Given the description of an element on the screen output the (x, y) to click on. 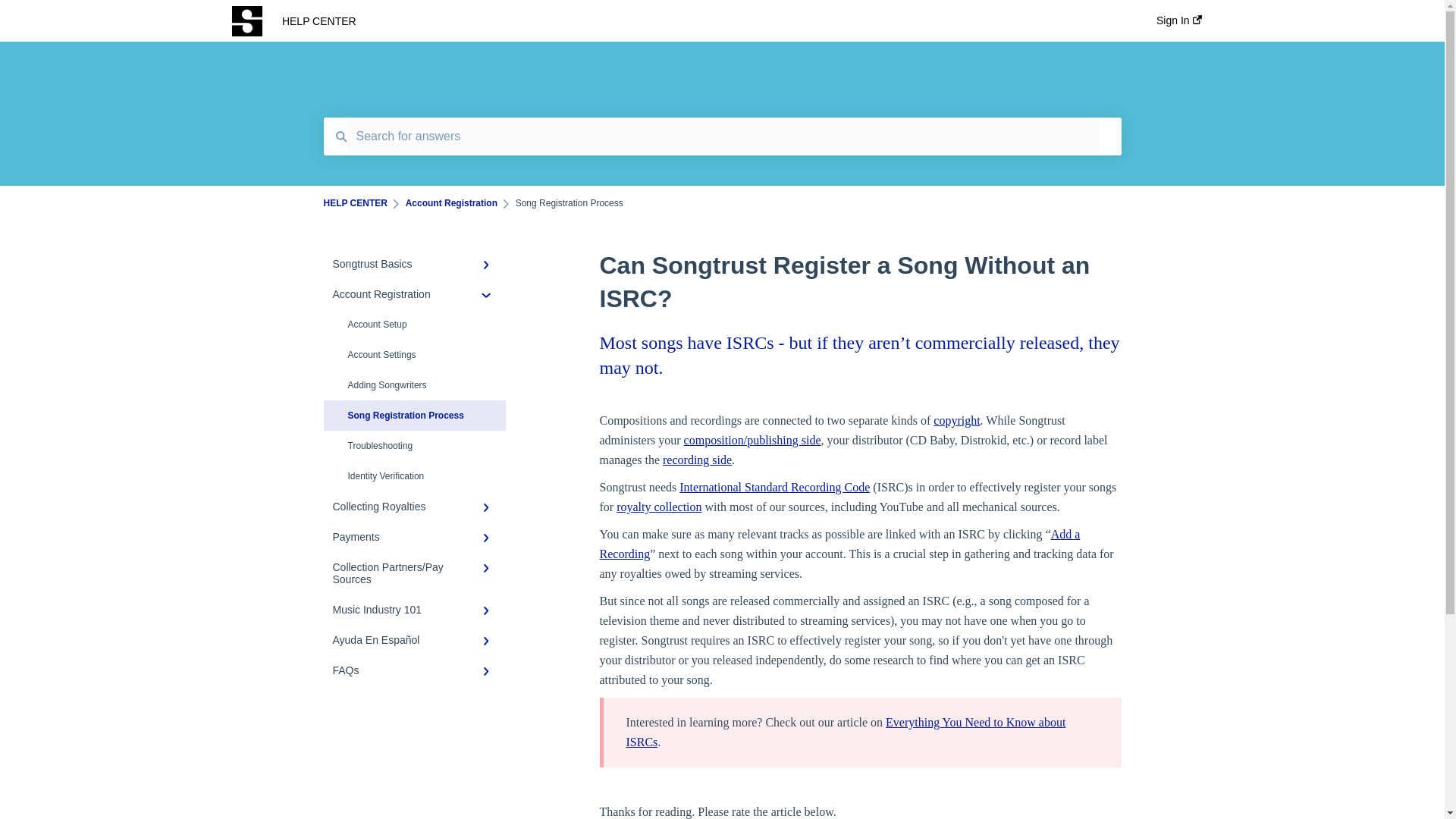
Sign In (1178, 25)
HELP CENTER (696, 21)
